Given the description of an element on the screen output the (x, y) to click on. 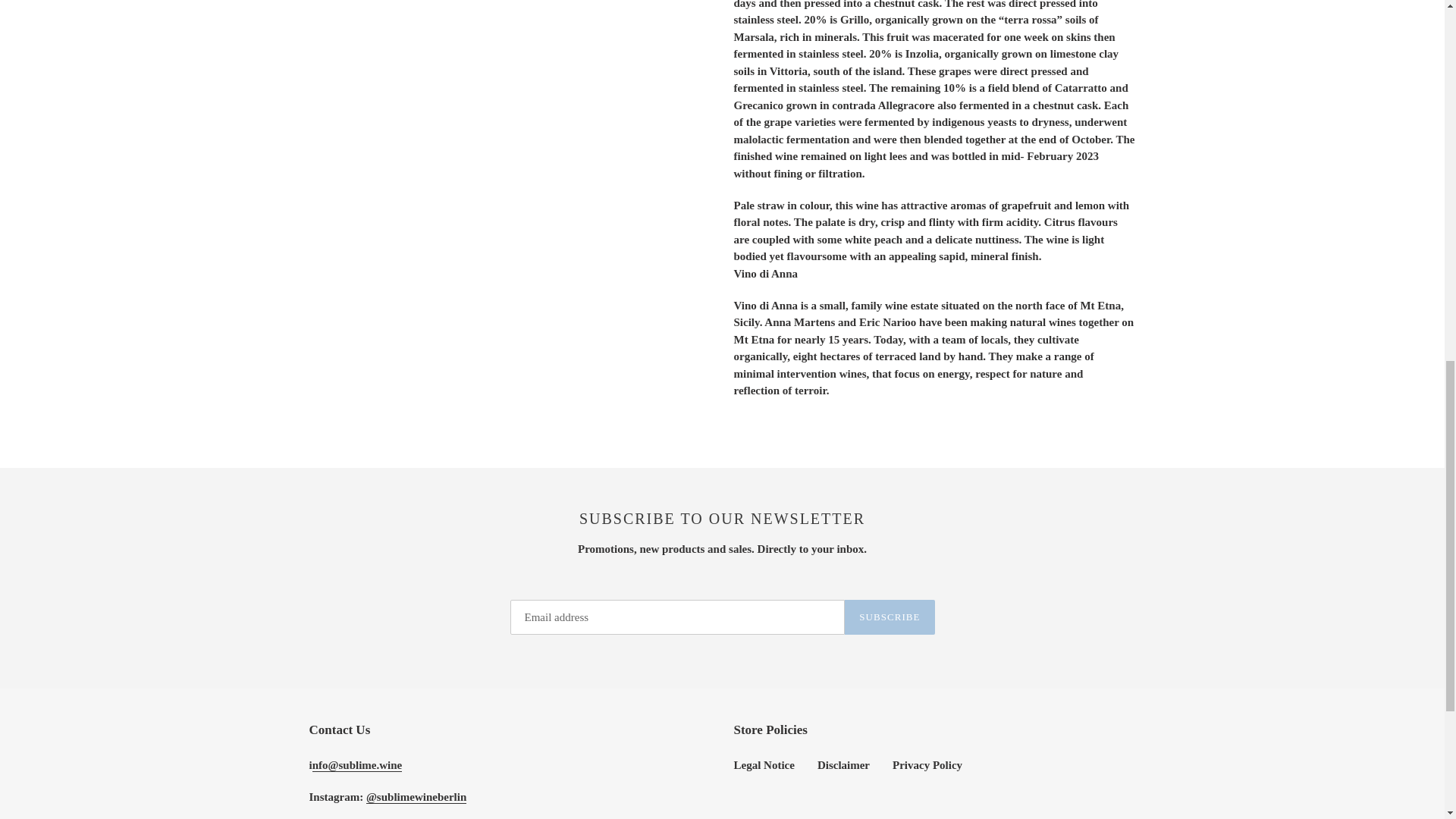
Disclaimer (842, 765)
Page 1 (934, 132)
Privacy Policy (927, 765)
SUBSCRIBE (889, 616)
Legal Notice (763, 765)
